Given the description of an element on the screen output the (x, y) to click on. 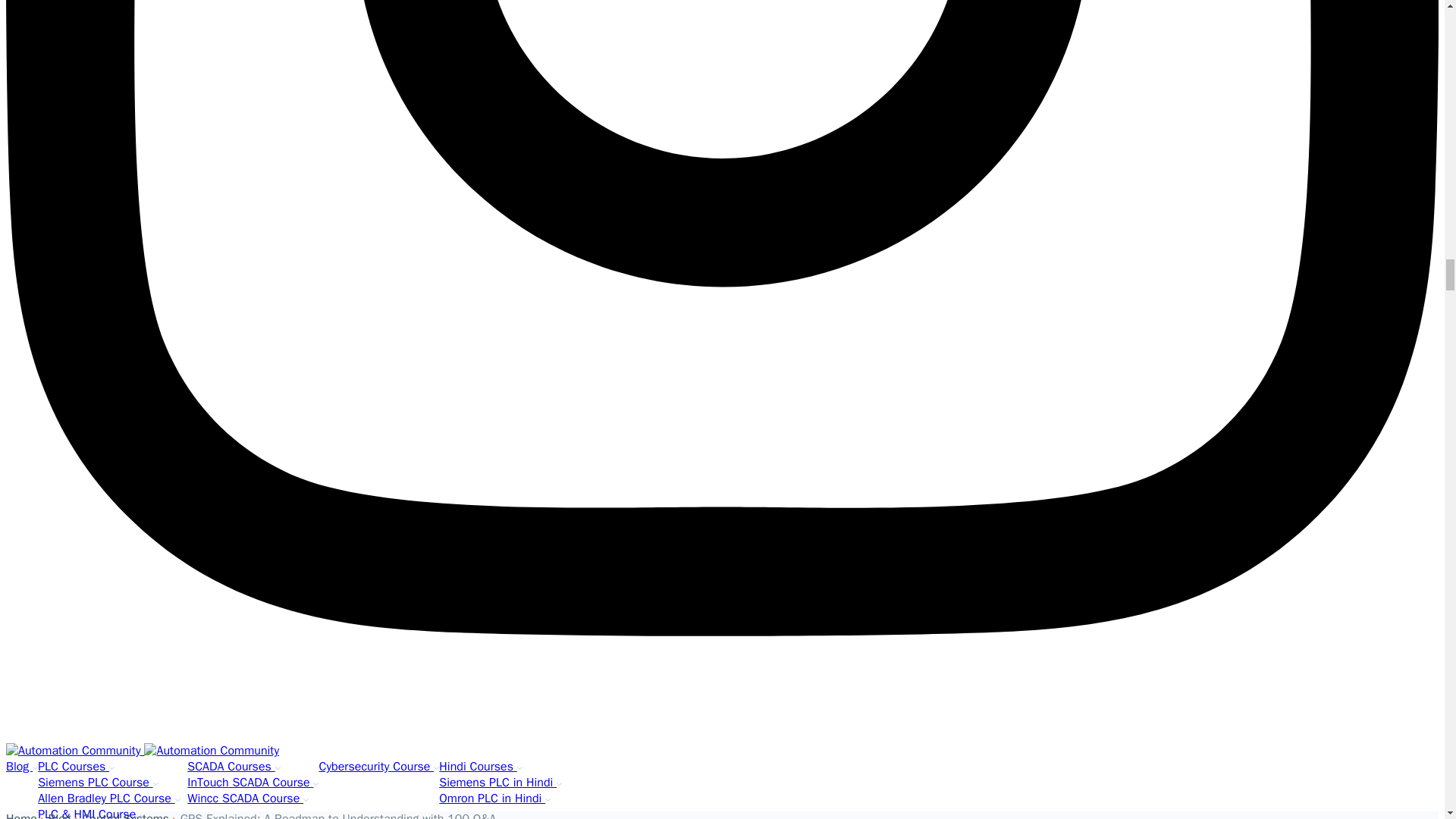
PLC Courses (76, 766)
Hindi Courses (480, 766)
Automation Community (211, 750)
Omron PLC in Hindi (494, 798)
Siemens PLC Course (97, 782)
Siemens PLC in Hindi (500, 782)
SCADA Courses (233, 766)
Siemens PLC Course (97, 782)
Control Systems (127, 815)
Automation Community (74, 750)
InTouch SCADA Course (252, 782)
Blog (21, 766)
Home (22, 815)
Wincc SCADA Course (247, 798)
PLC Courses (76, 766)
